Given the description of an element on the screen output the (x, y) to click on. 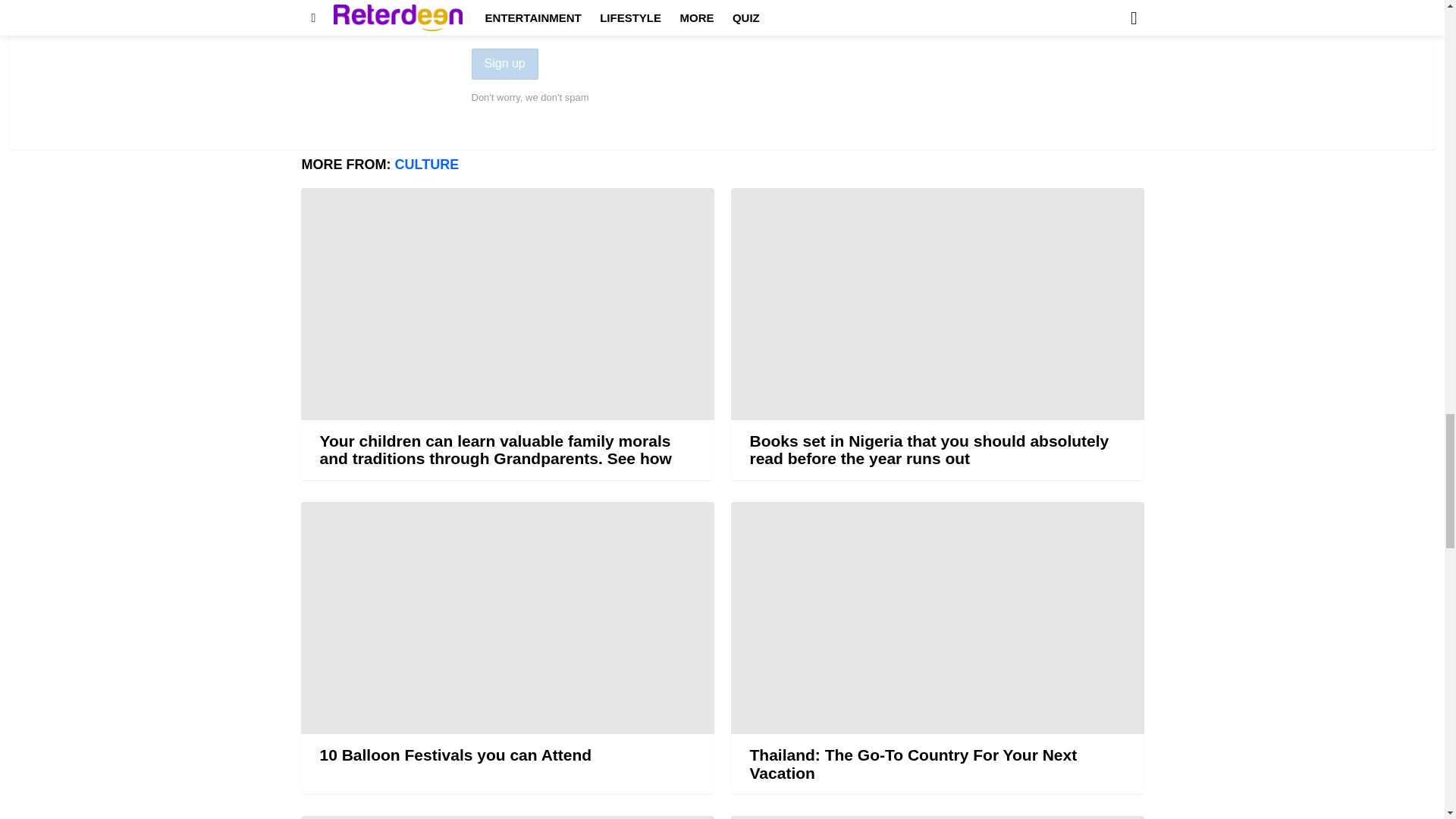
Sign up (504, 63)
